Given the description of an element on the screen output the (x, y) to click on. 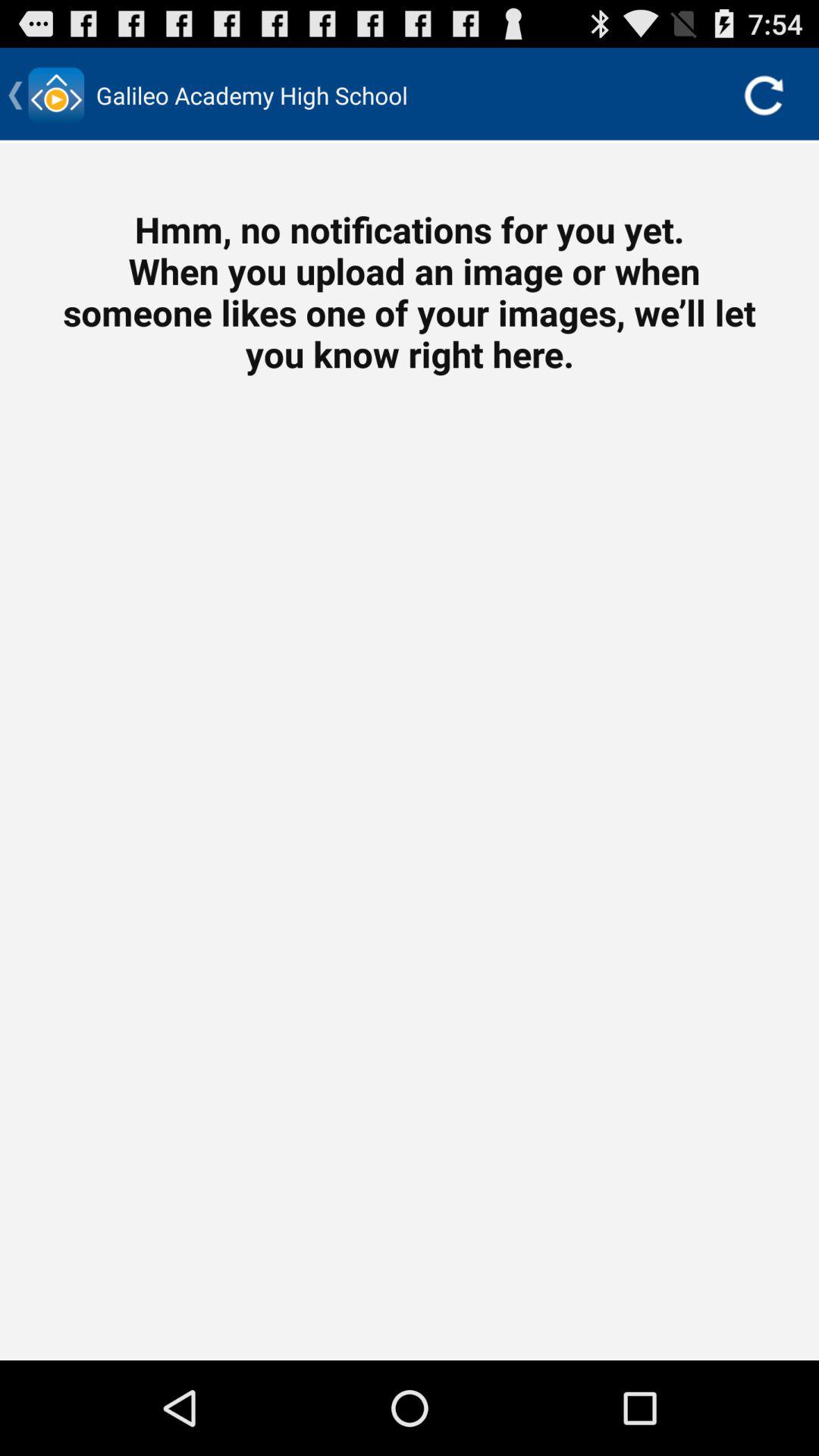
click the item above hmm no notifications (763, 95)
